Given the description of an element on the screen output the (x, y) to click on. 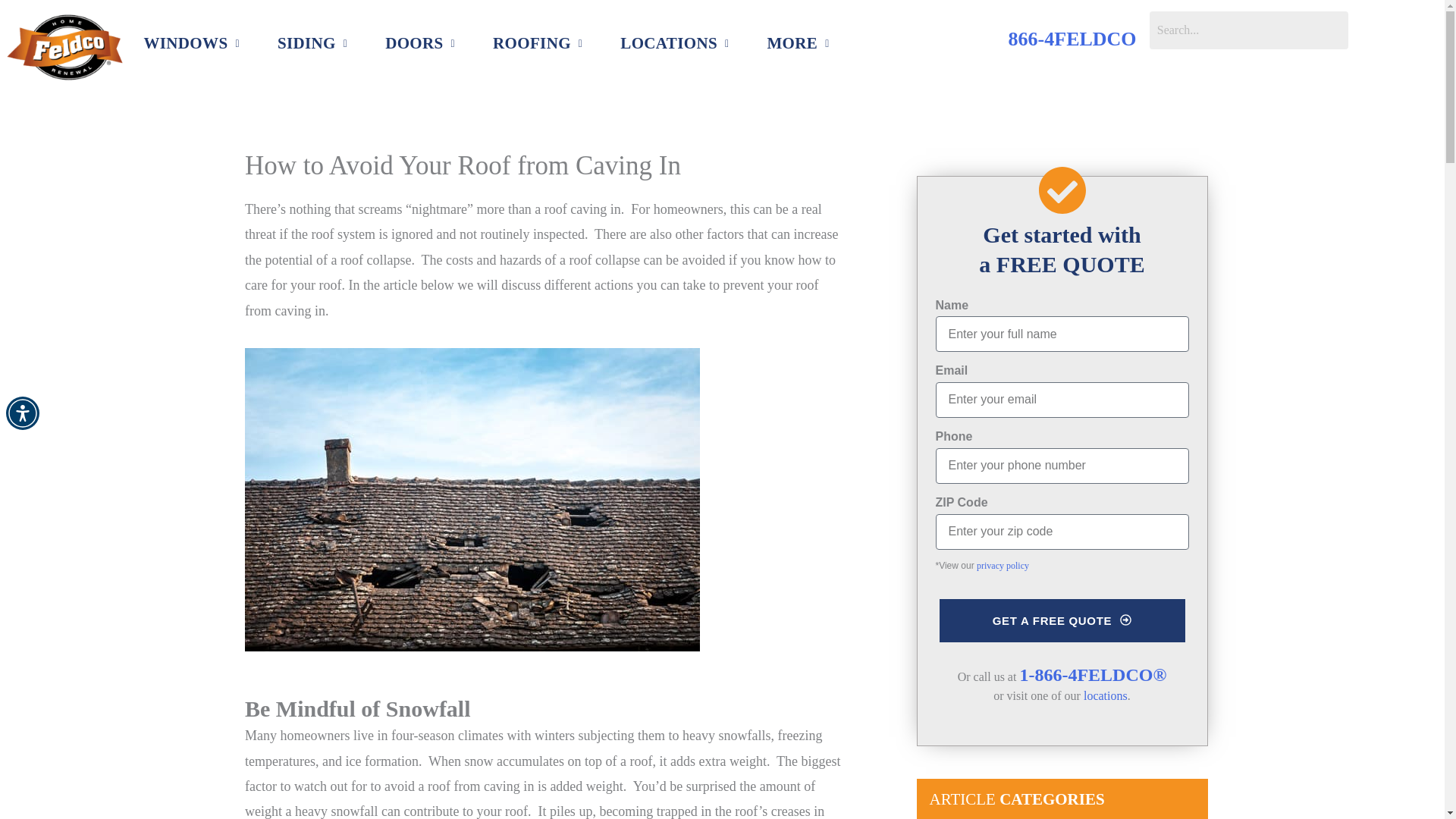
Accessibility Menu (22, 412)
WINDOWS (190, 43)
Search (1249, 30)
DOORS (420, 43)
ROOFING (536, 43)
SIDING (312, 43)
LOCATIONS (674, 43)
